Given the description of an element on the screen output the (x, y) to click on. 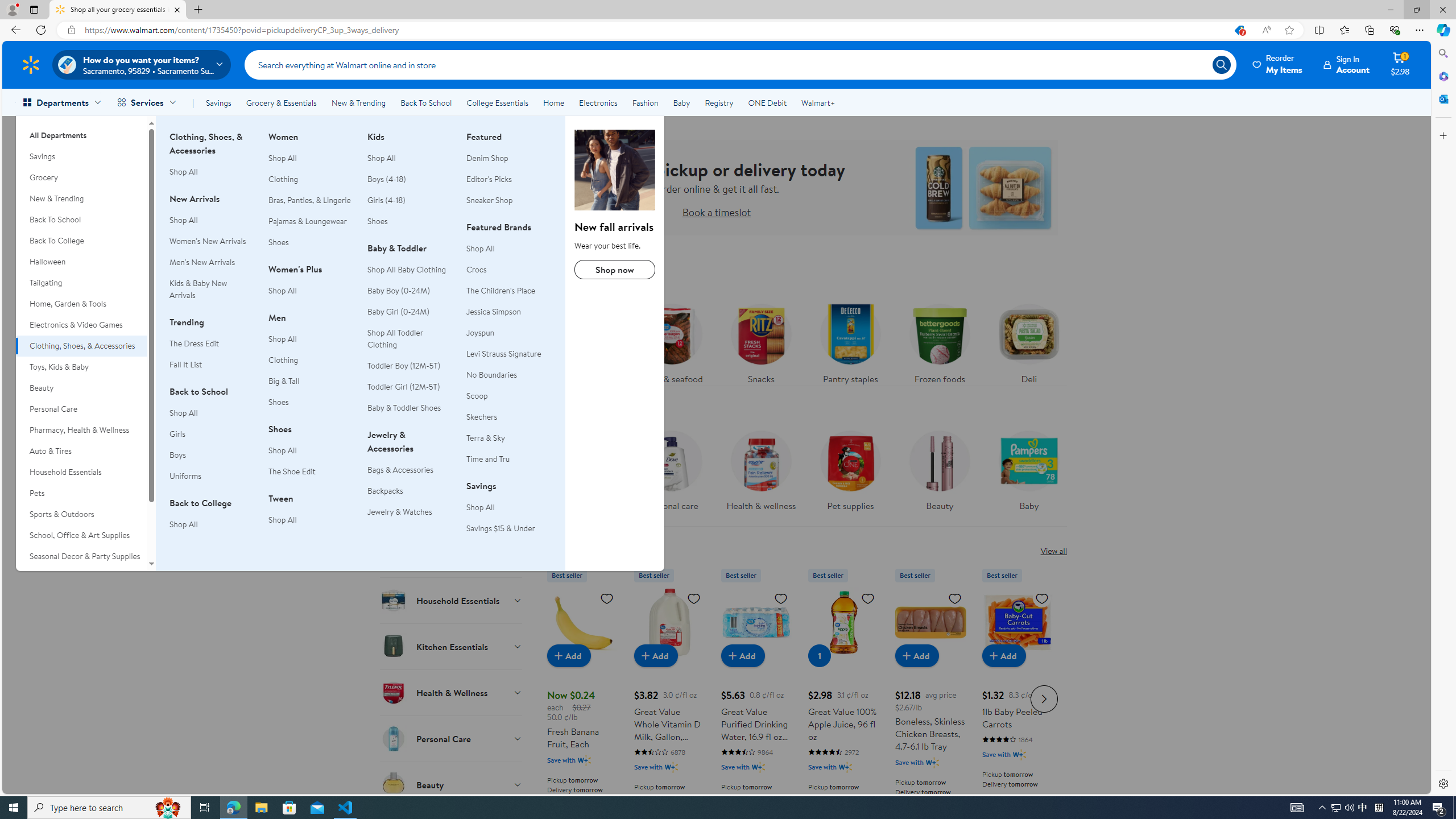
Baby Girl (0-24M) (397, 311)
Pet supplies (850, 473)
Baby & Toddler Shoes (409, 408)
Tailgating (81, 282)
Kids & Baby New Arrivals (197, 288)
Seasonal Decor & Party Supplies (81, 556)
Electronics & Video Games (81, 324)
Boys (177, 454)
Baby (1029, 473)
View all (1053, 550)
New & Trending (358, 102)
Boys (211, 455)
